Given the description of an element on the screen output the (x, y) to click on. 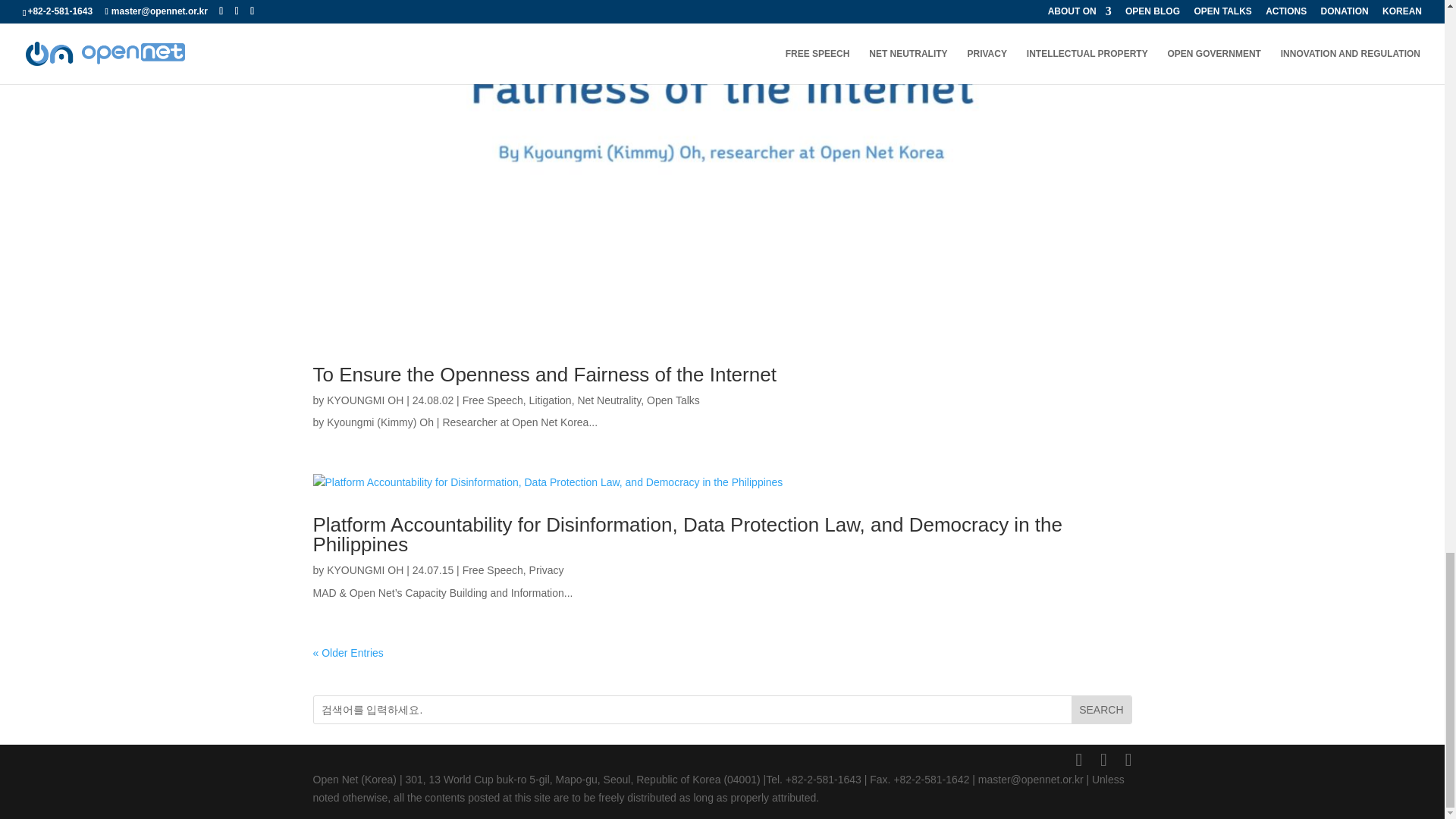
Posts by KYOUNGMI OH (364, 570)
Search (1101, 709)
Posts by KYOUNGMI OH (364, 399)
Search (1101, 709)
